Given the description of an element on the screen output the (x, y) to click on. 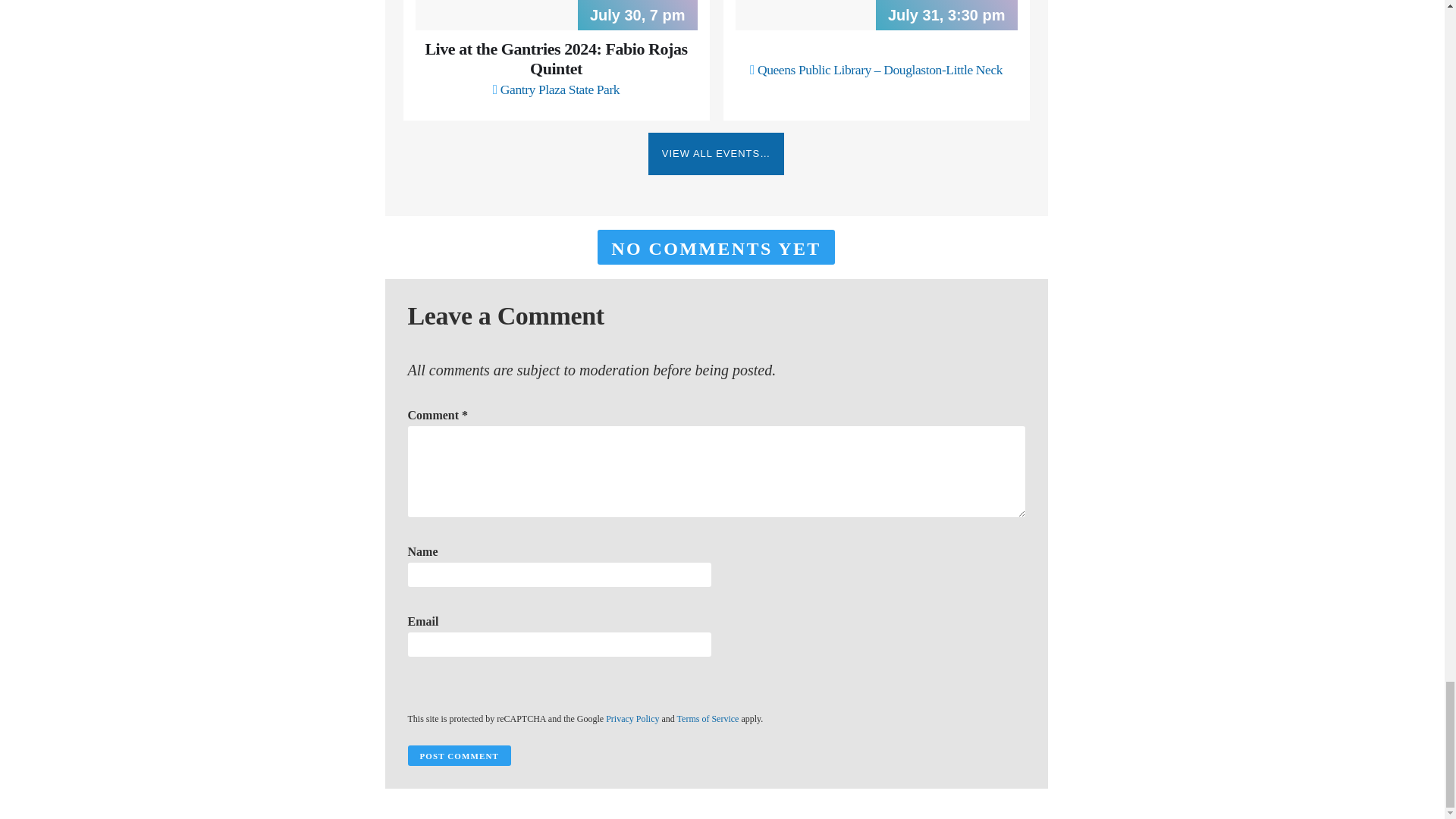
Post Comment (459, 755)
